Given the description of an element on the screen output the (x, y) to click on. 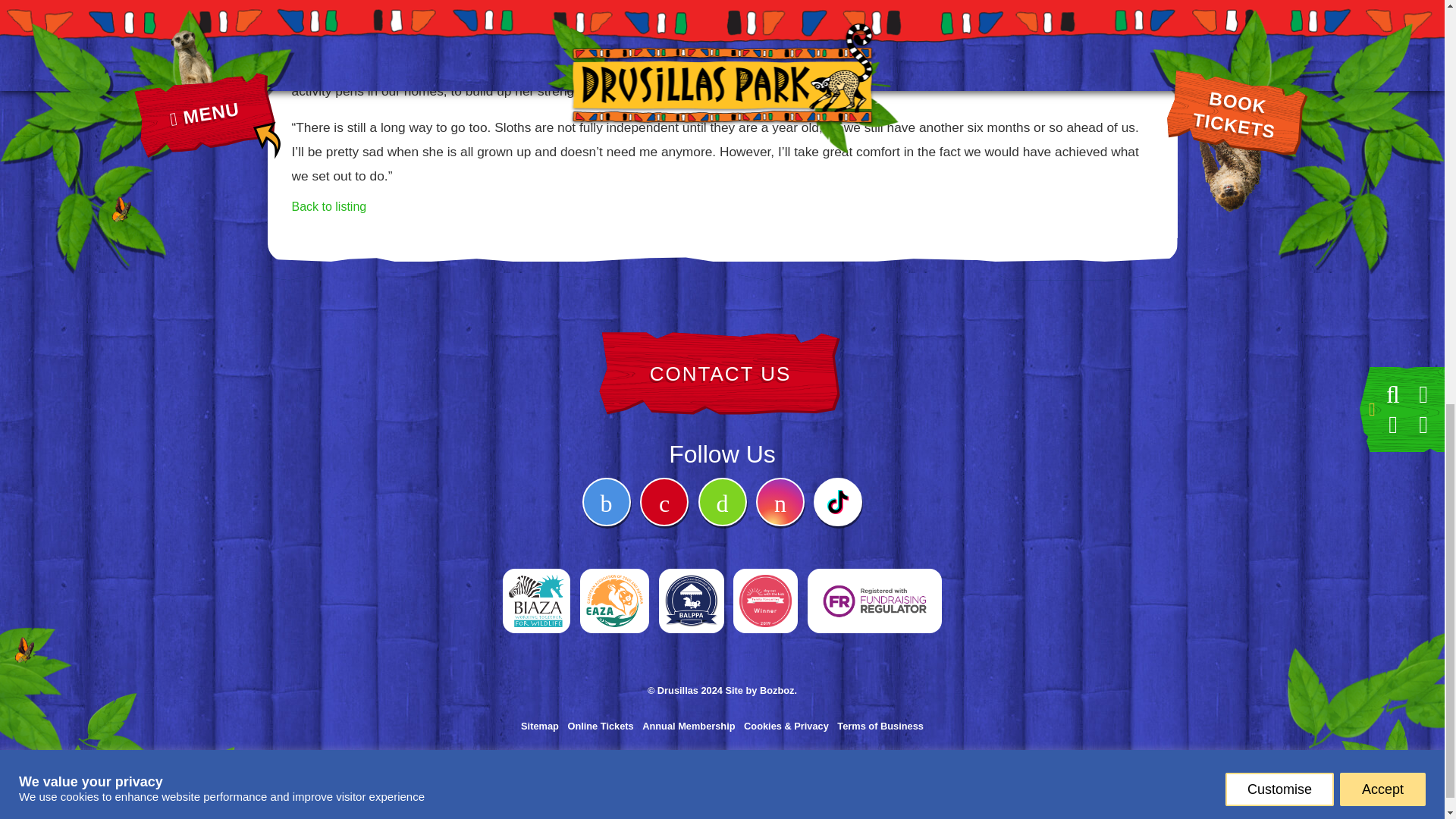
Fundraising Regulator (874, 581)
Family Favourites Awards Winner (765, 581)
